Given the description of an element on the screen output the (x, y) to click on. 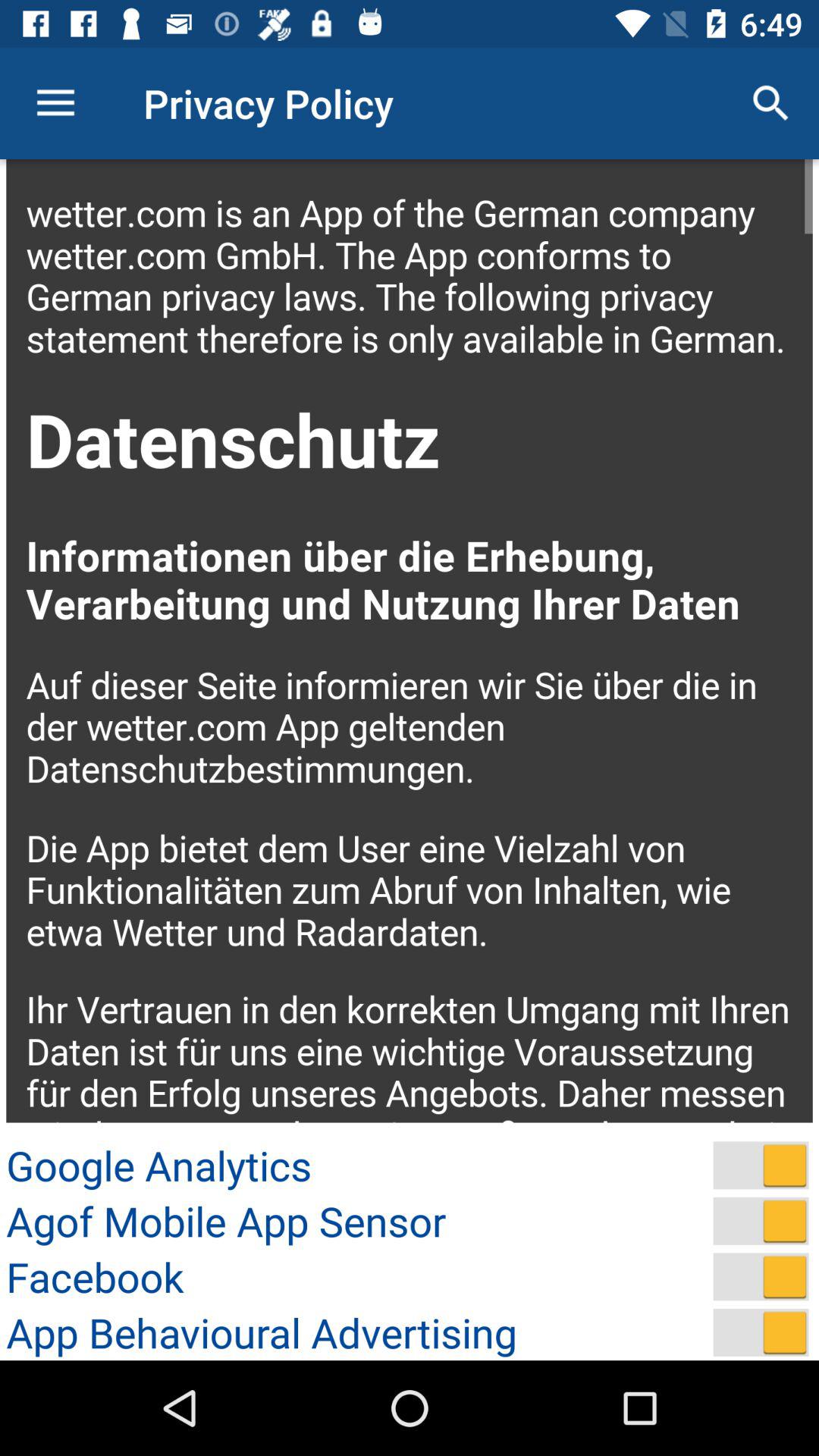
select the search option on top right (771, 103)
click the switch button next to google analytics (761, 1165)
click on the box next to app behavioural advertising (761, 1331)
